Given the description of an element on the screen output the (x, y) to click on. 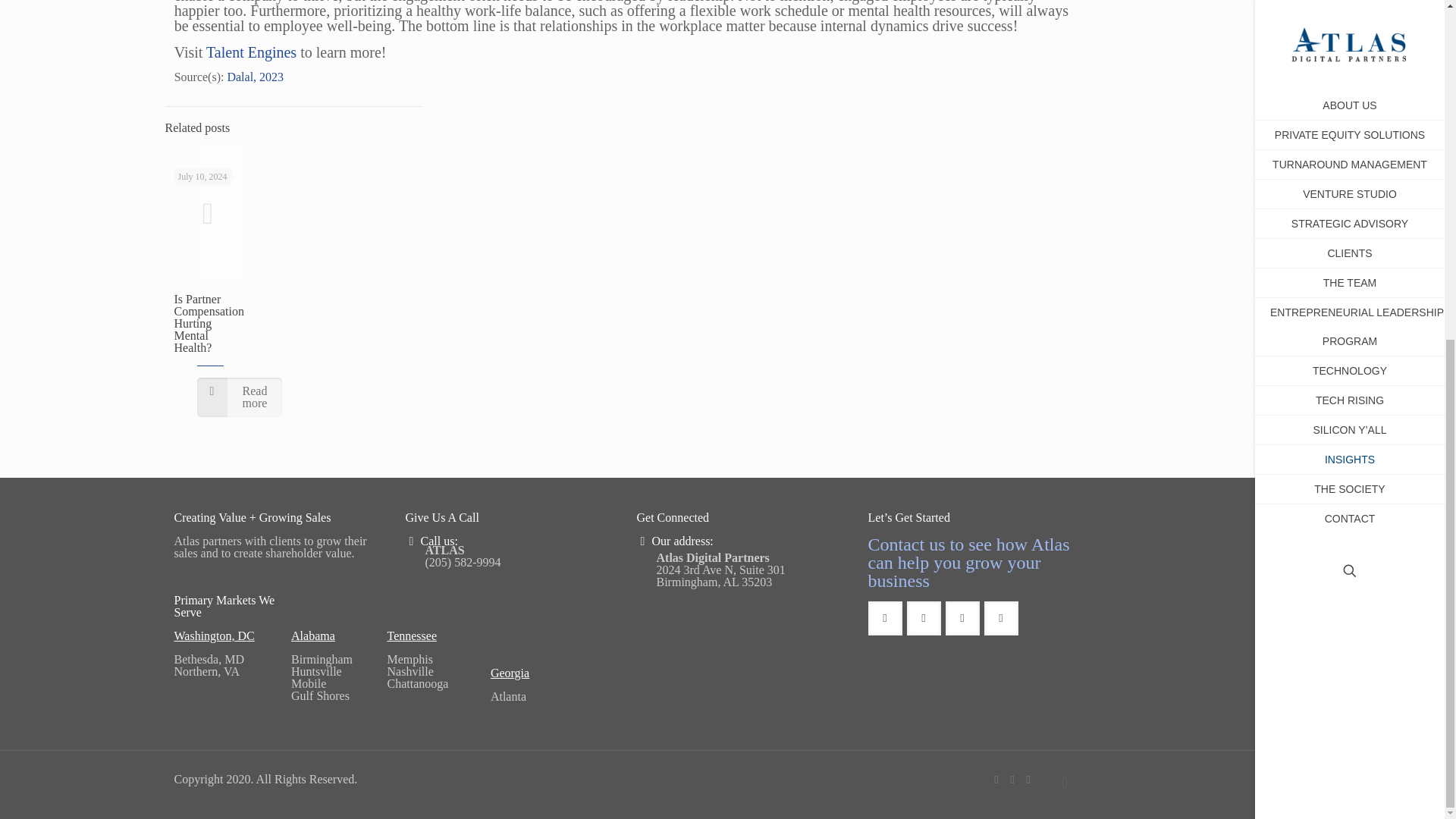
Dalal, 2023 (255, 76)
Facebook (1333, 223)
Facebook (995, 779)
LinkedIn (1027, 779)
LinkedIn (1365, 223)
Talent Engines (251, 52)
